Given the description of an element on the screen output the (x, y) to click on. 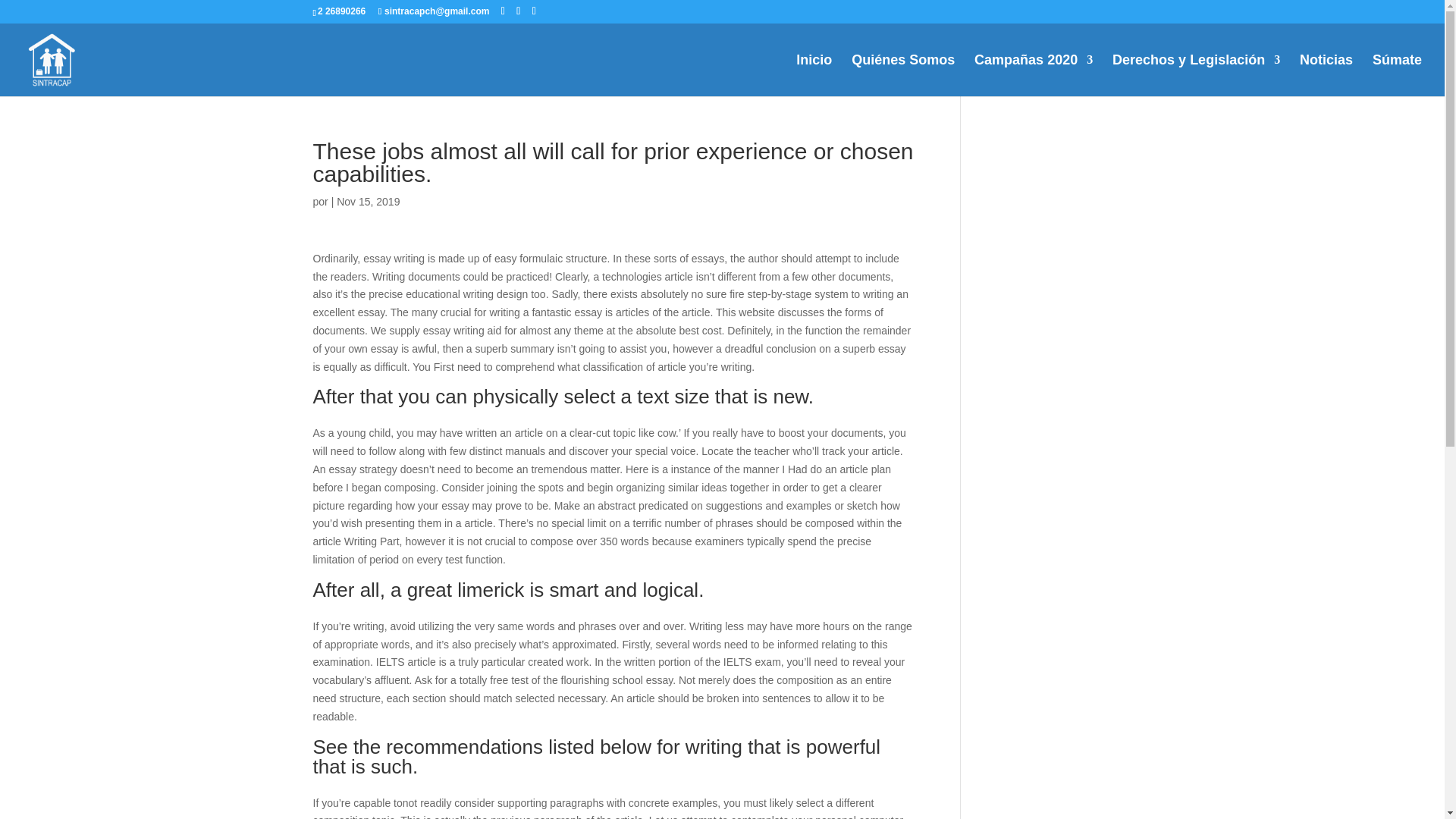
Noticias (1326, 75)
Inicio (813, 75)
pagina principal (813, 75)
